Given the description of an element on the screen output the (x, y) to click on. 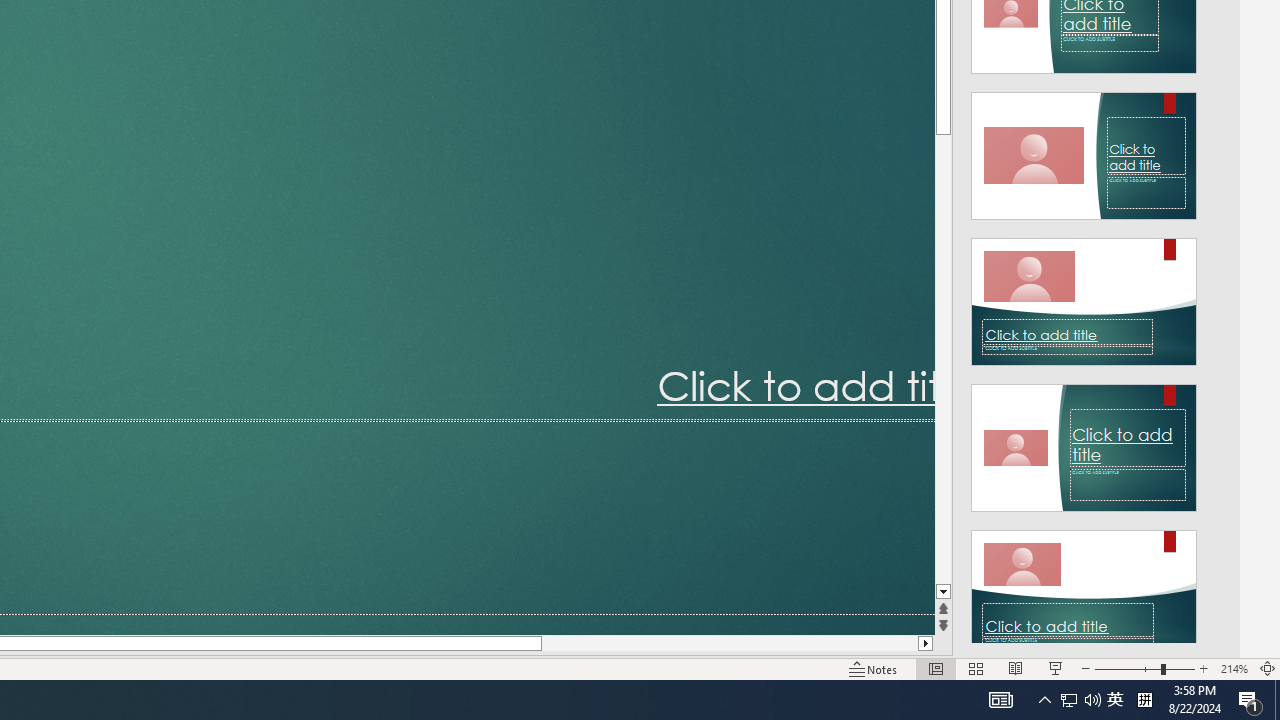
Zoom 214% (1234, 668)
